Given the description of an element on the screen output the (x, y) to click on. 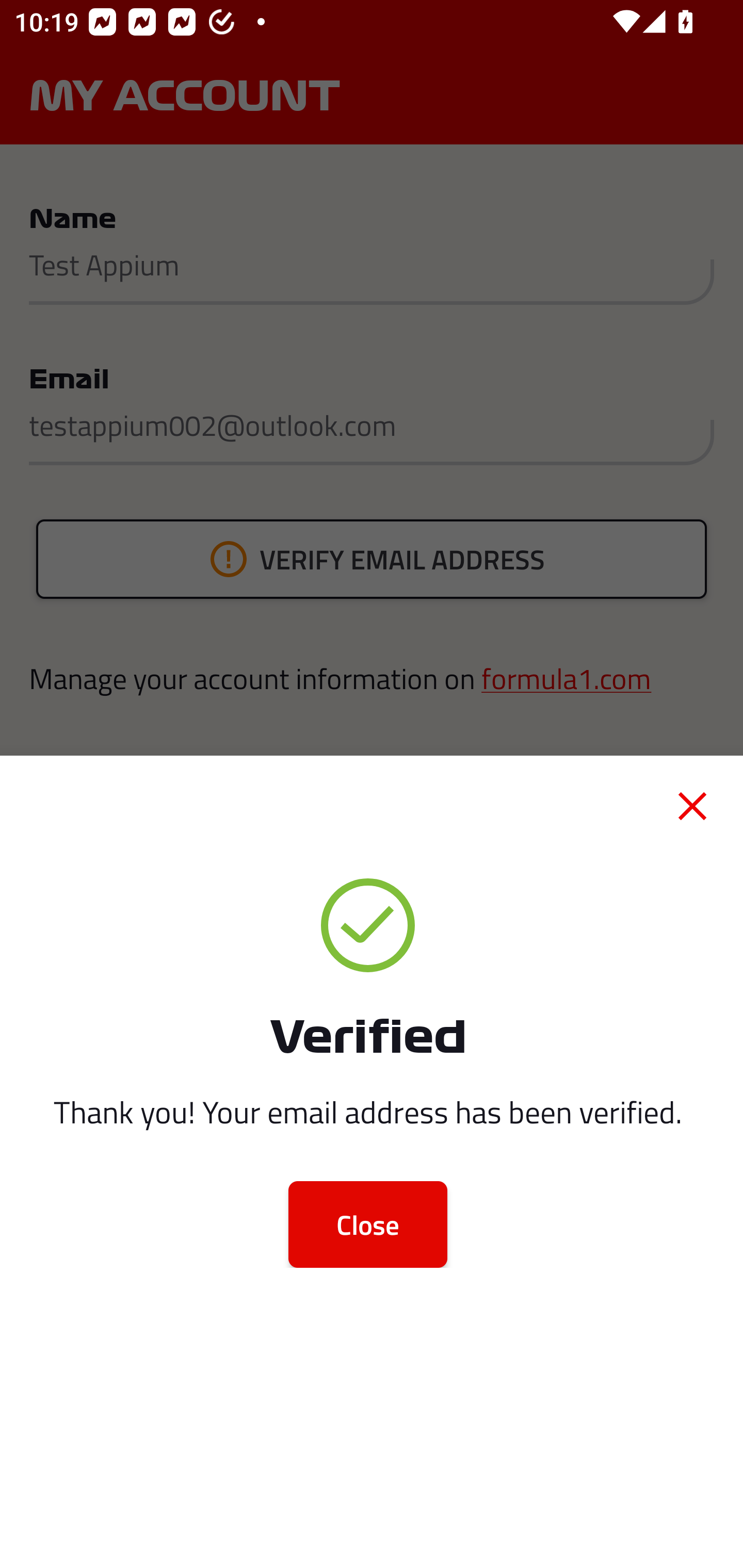
Close (367, 1224)
